Given the description of an element on the screen output the (x, y) to click on. 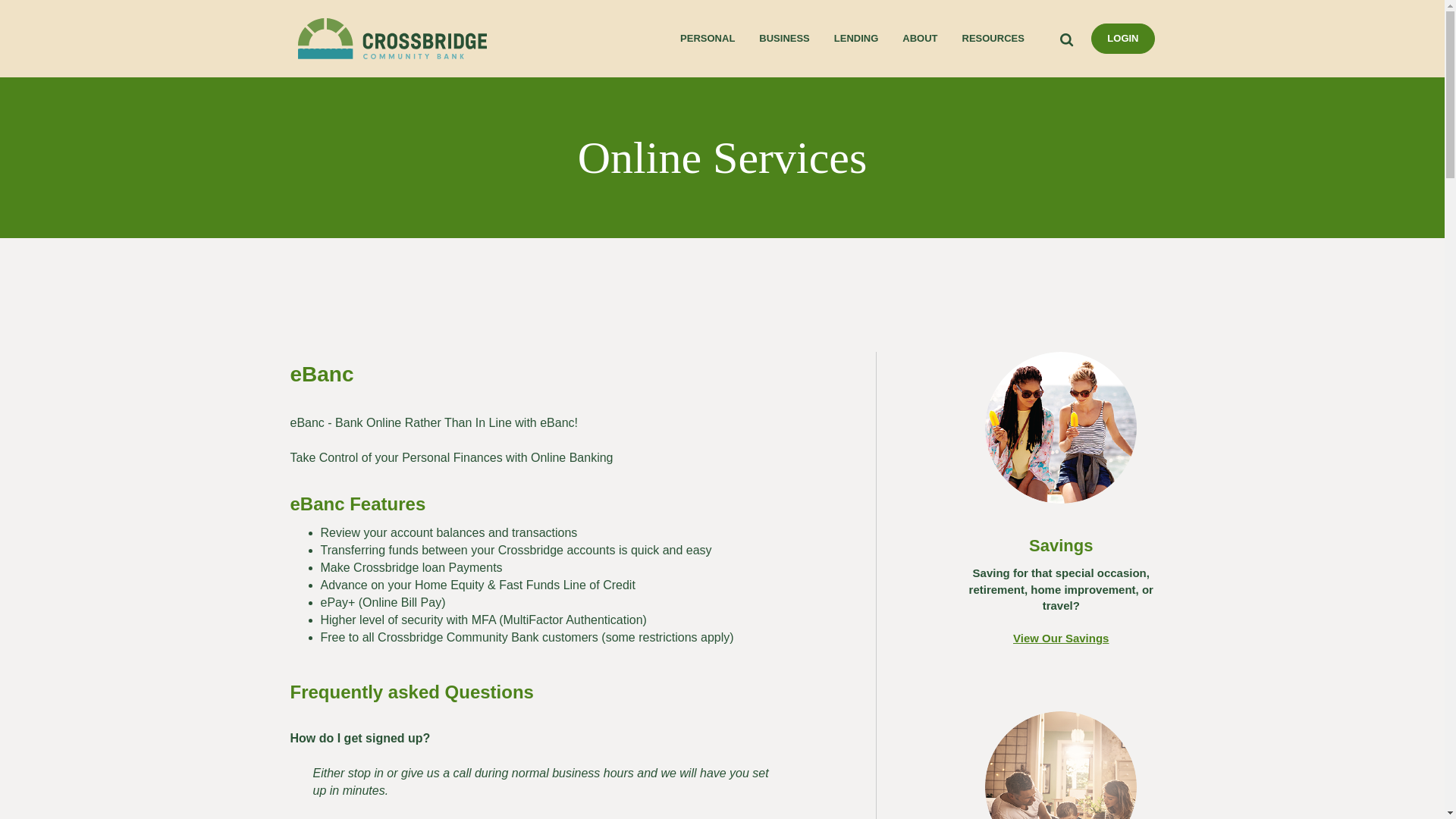
View Our Savings Element type: text (1060, 637)
Crossbridge Community Bank, Tomahawk, WI Element type: hover (391, 38)
LOGIN Element type: text (1122, 38)
Search Element type: text (1068, 38)
